Given the description of an element on the screen output the (x, y) to click on. 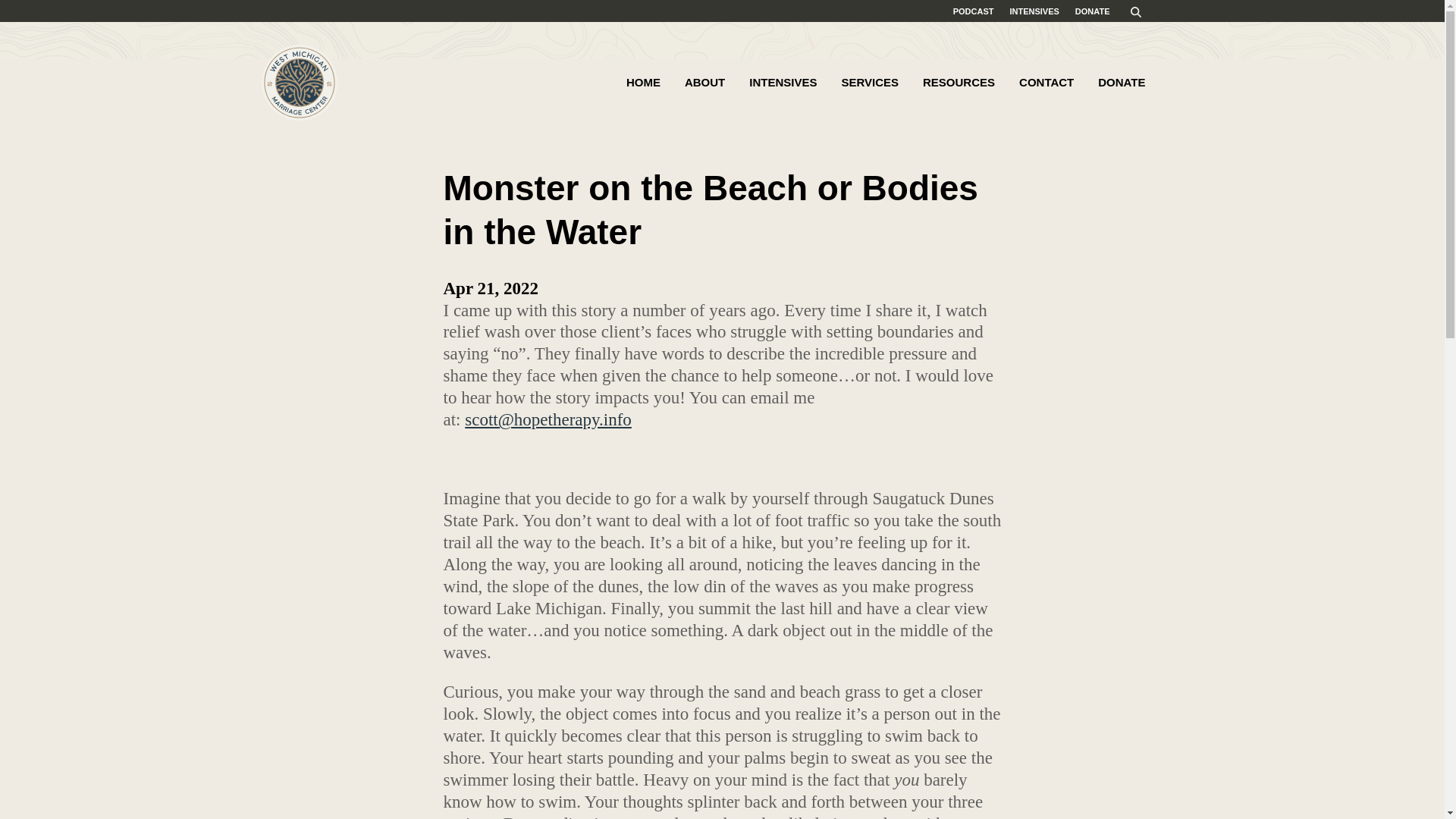
DONATE (1092, 10)
DONATE (1120, 82)
CONTACT (1046, 82)
HOME (643, 82)
ABOUT (704, 82)
RESOURCES (958, 82)
PODCAST (973, 10)
INTENSIVES (1033, 10)
West Michigan Marriage Center (298, 82)
SERVICES (869, 82)
